Given the description of an element on the screen output the (x, y) to click on. 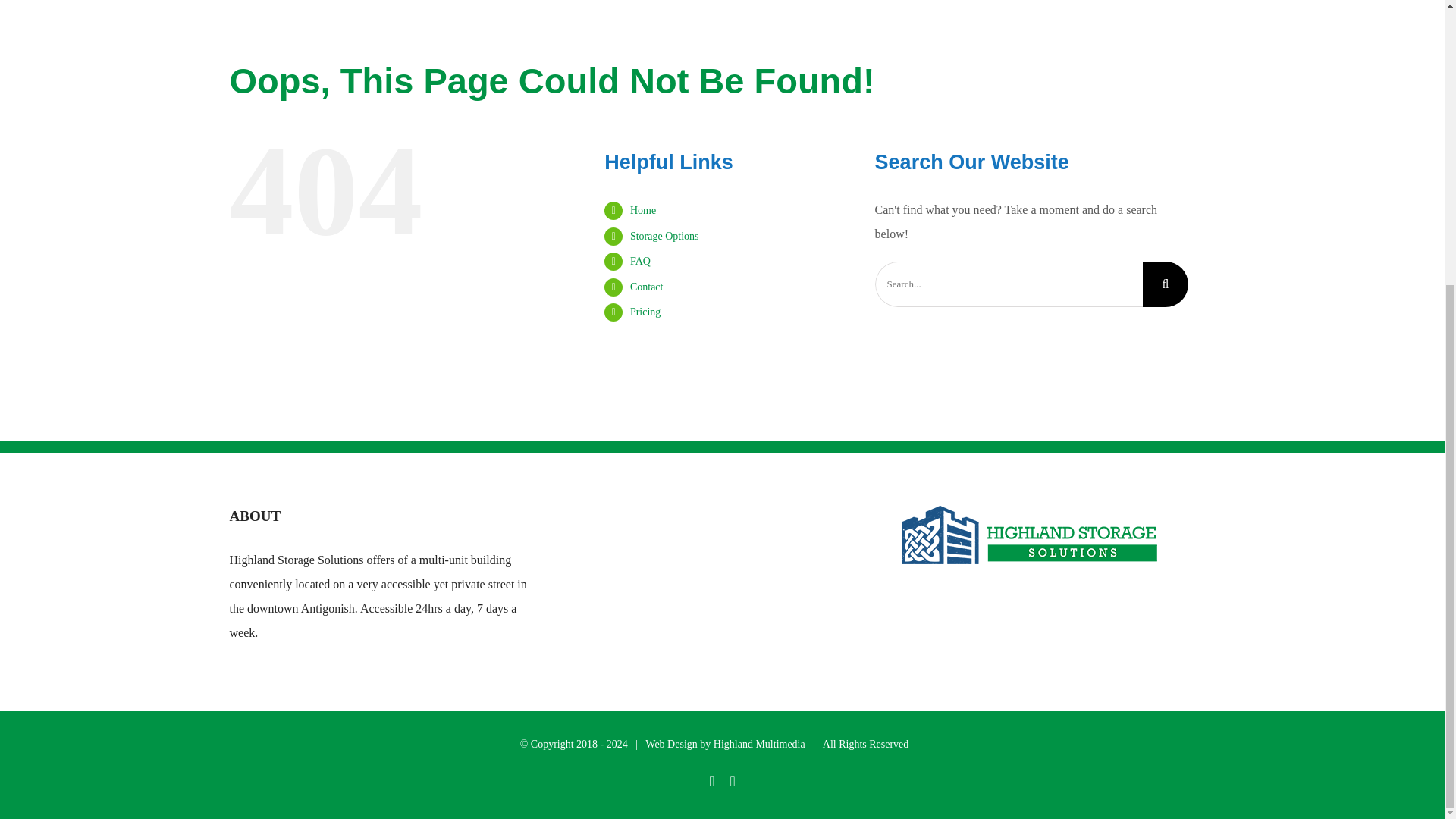
FAQ (640, 260)
Storage Options (664, 235)
Contact (646, 286)
Highland Multimedia (759, 744)
Home (643, 210)
Pricing (645, 311)
